Given the description of an element on the screen output the (x, y) to click on. 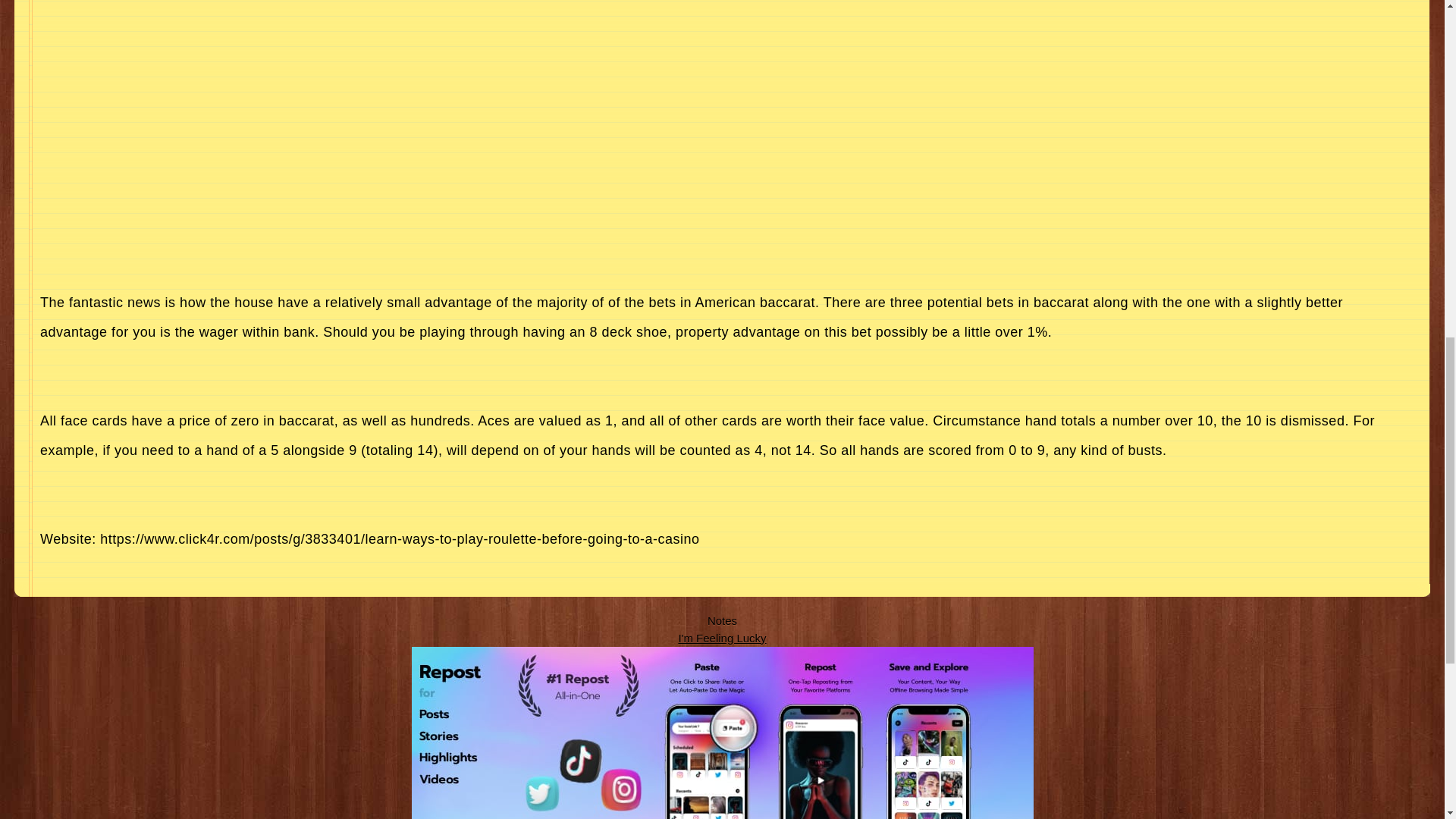
I'm Feeling Lucky (722, 636)
Feeling Luck (722, 636)
tiktok video downloader for iOS (721, 733)
